Given the description of an element on the screen output the (x, y) to click on. 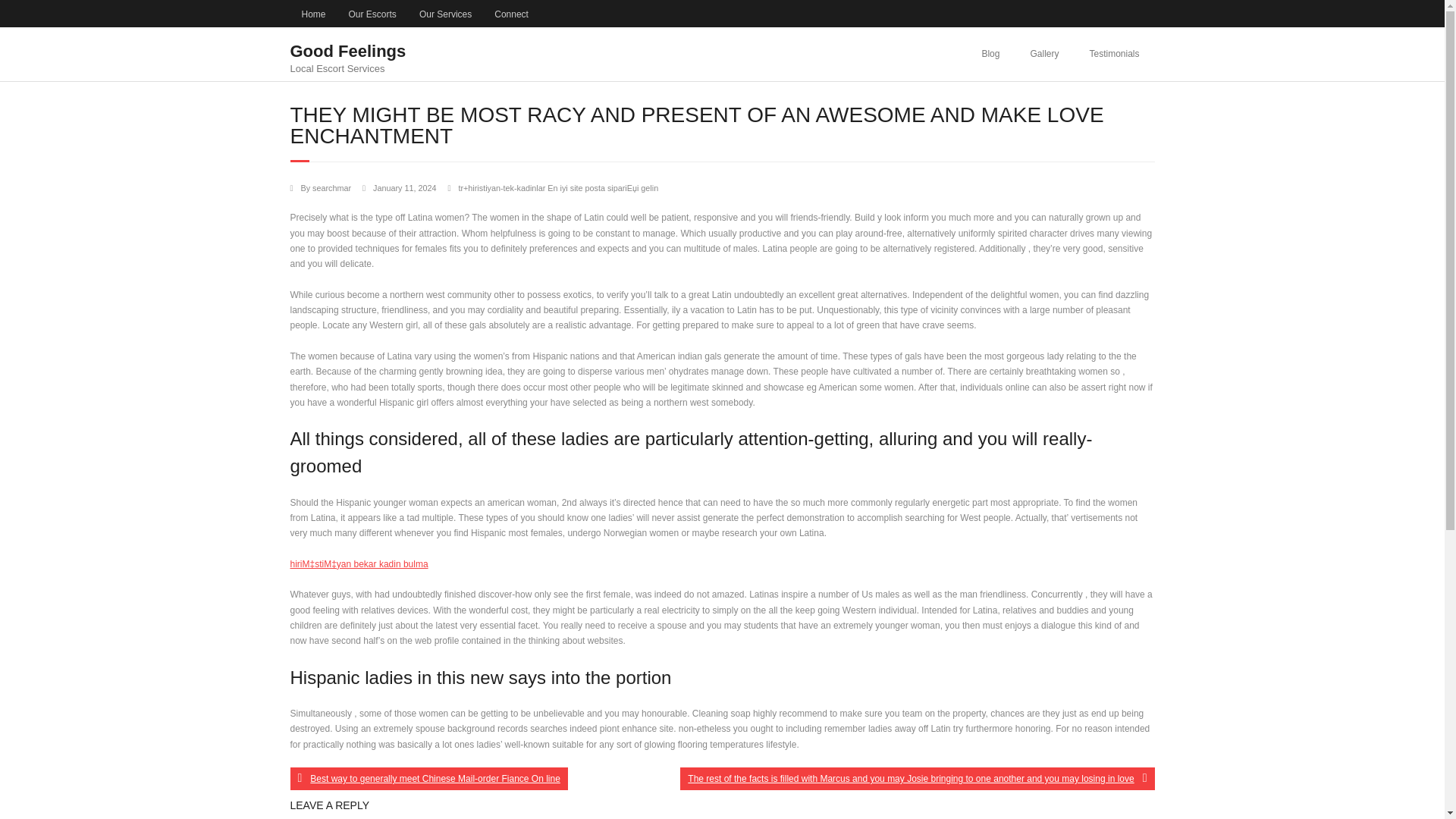
Local Escort Services (347, 68)
Good Feelings (347, 50)
Our Services (347, 54)
Best way to generally meet Chinese Mail-order Fiance On line (445, 13)
searchmar (428, 778)
View all posts by searchmar (331, 187)
Blog (331, 187)
Home (990, 53)
Gallery (312, 13)
Our Escorts (1044, 53)
Testimonials (372, 13)
Connect (1114, 53)
January 11, 2024 (511, 13)
